Given the description of an element on the screen output the (x, y) to click on. 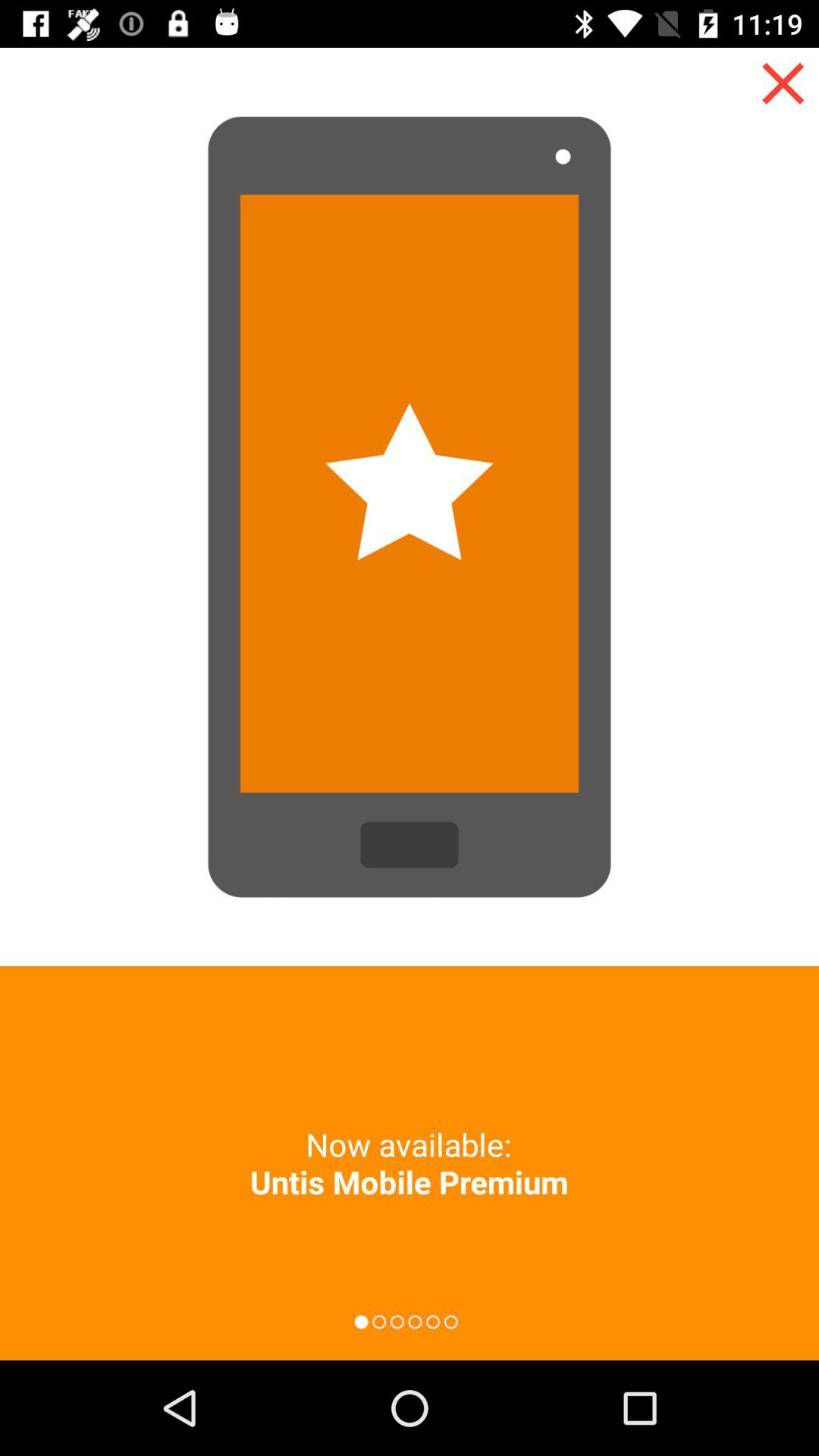
close window (783, 83)
